Given the description of an element on the screen output the (x, y) to click on. 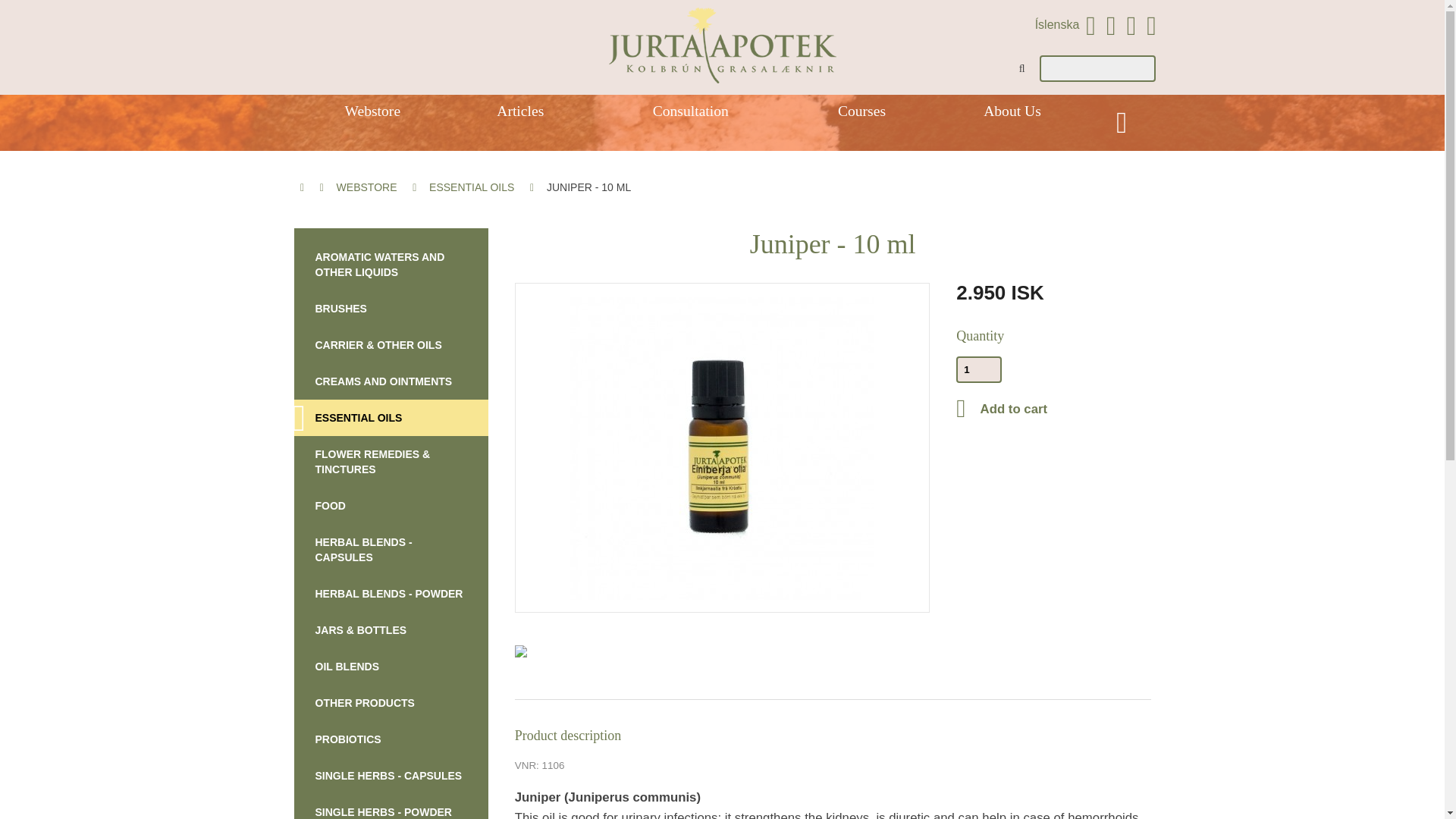
1 (978, 369)
